Given the description of an element on the screen output the (x, y) to click on. 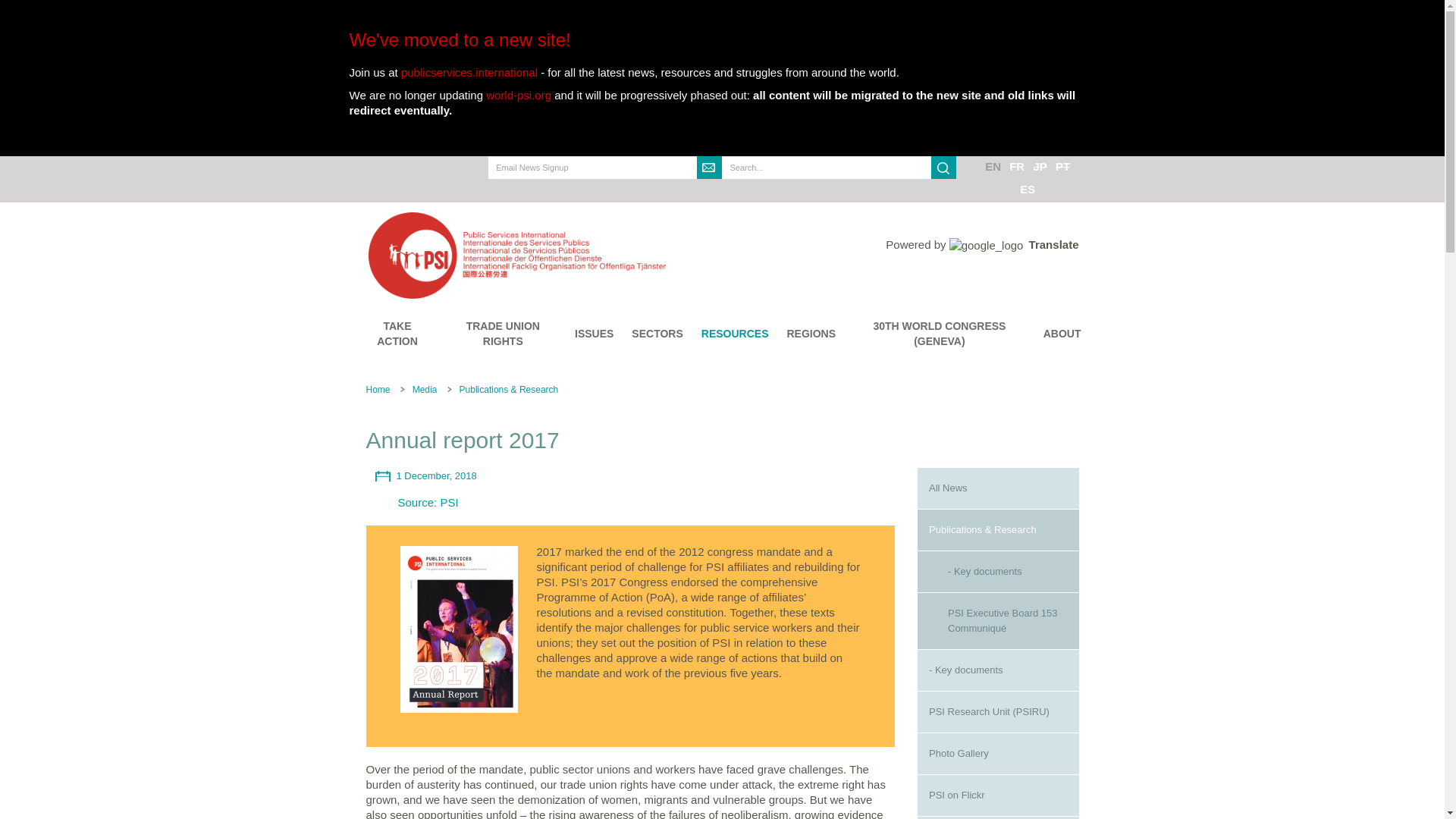
Enter the terms you wish to search for. (826, 167)
Search (735, 190)
Home (598, 254)
Search (943, 167)
Powered by Translate (981, 244)
world-psi.org (518, 94)
publicservices.international (469, 72)
Media (425, 389)
TAKE ACTION (398, 333)
Submit (709, 167)
